Given the description of an element on the screen output the (x, y) to click on. 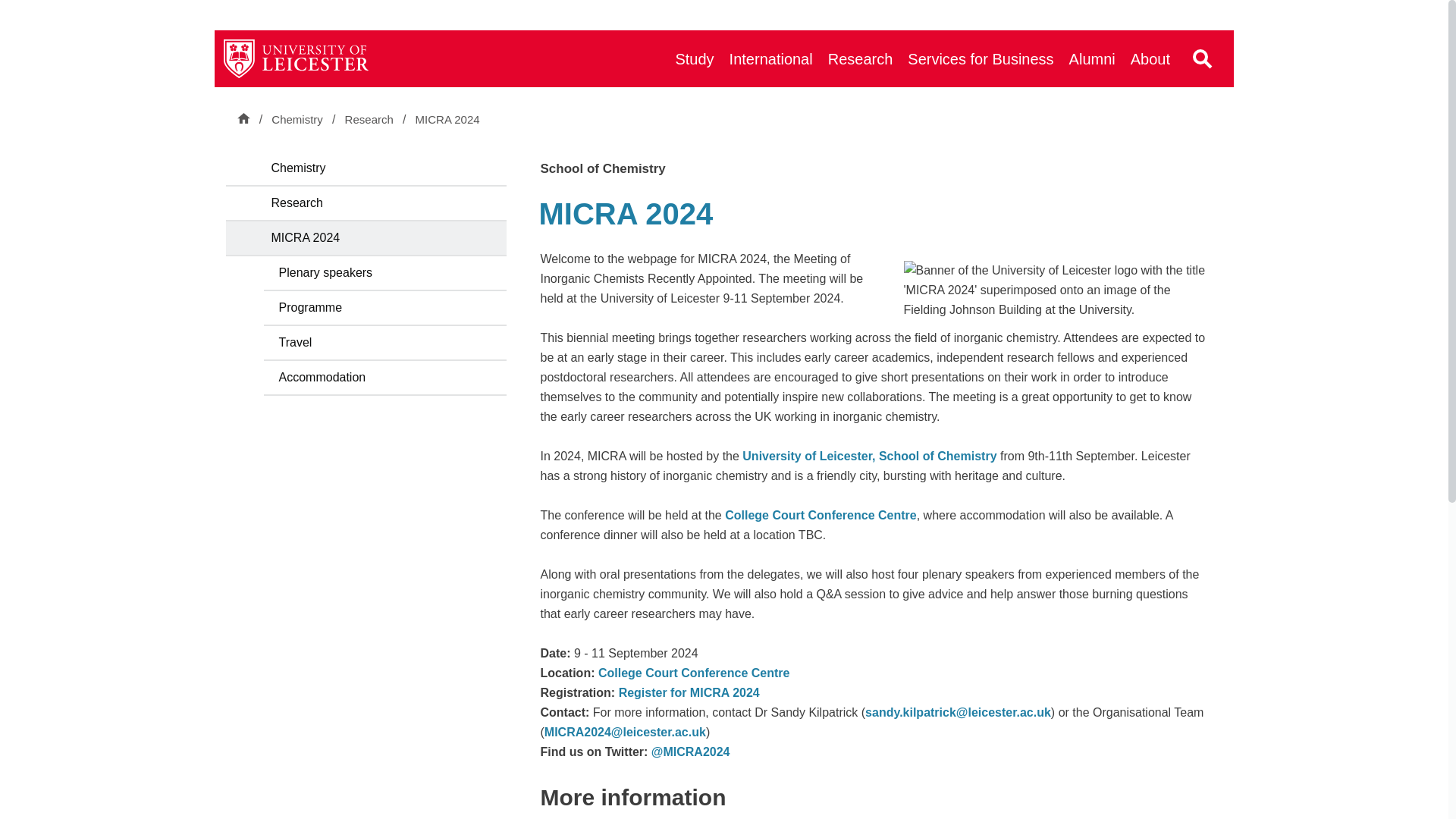
MICRA 2024 (447, 119)
Return to homepage (296, 58)
Research (370, 119)
Chemistry (296, 119)
Study (693, 58)
